Given the description of an element on the screen output the (x, y) to click on. 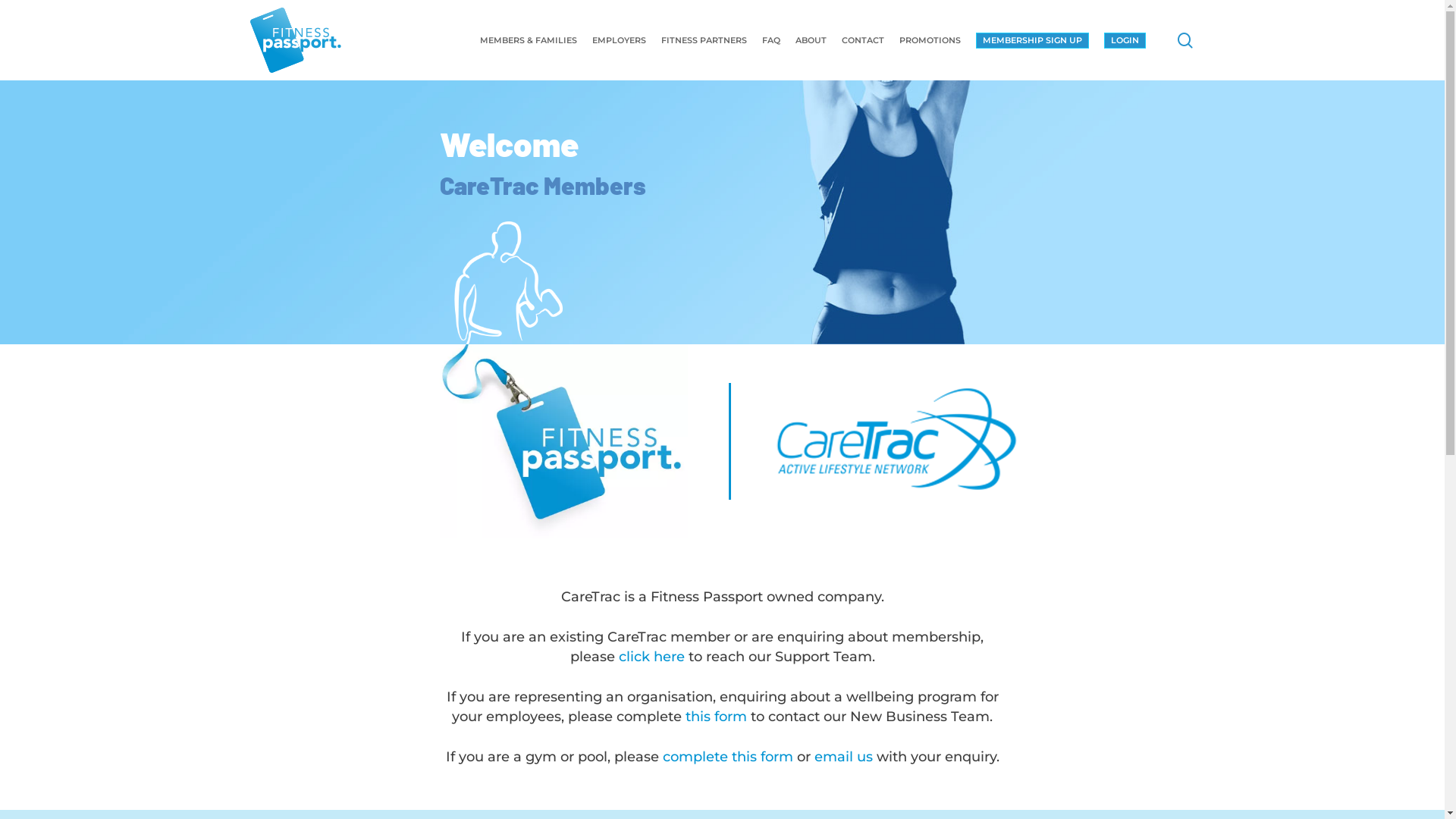
MEMBERSHIP SIGN UP Element type: text (1031, 39)
MEMBERS & FAMILIES Element type: text (528, 40)
email us Element type: text (843, 756)
complete this form Element type: text (727, 756)
PROMOTIONS Element type: text (929, 40)
click here Element type: text (651, 656)
CONTACT Element type: text (862, 40)
FITNESS PARTNERS Element type: text (703, 40)
EMPLOYERS Element type: text (619, 40)
LOGIN Element type: text (1124, 39)
search Element type: text (1185, 39)
FAQ Element type: text (771, 40)
ABOUT Element type: text (810, 40)
this form Element type: text (715, 716)
